Given the description of an element on the screen output the (x, y) to click on. 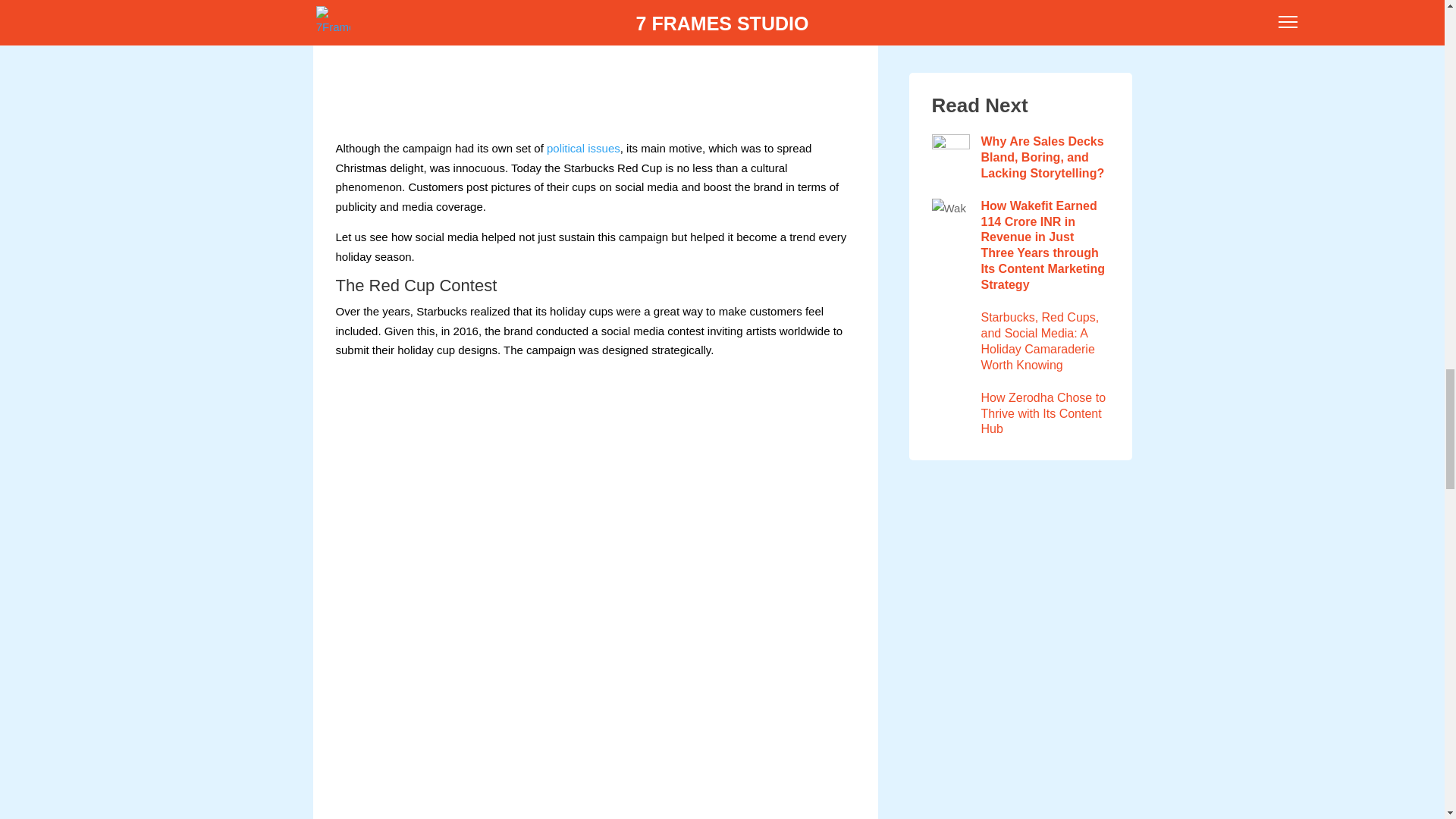
political issues (583, 147)
